Given the description of an element on the screen output the (x, y) to click on. 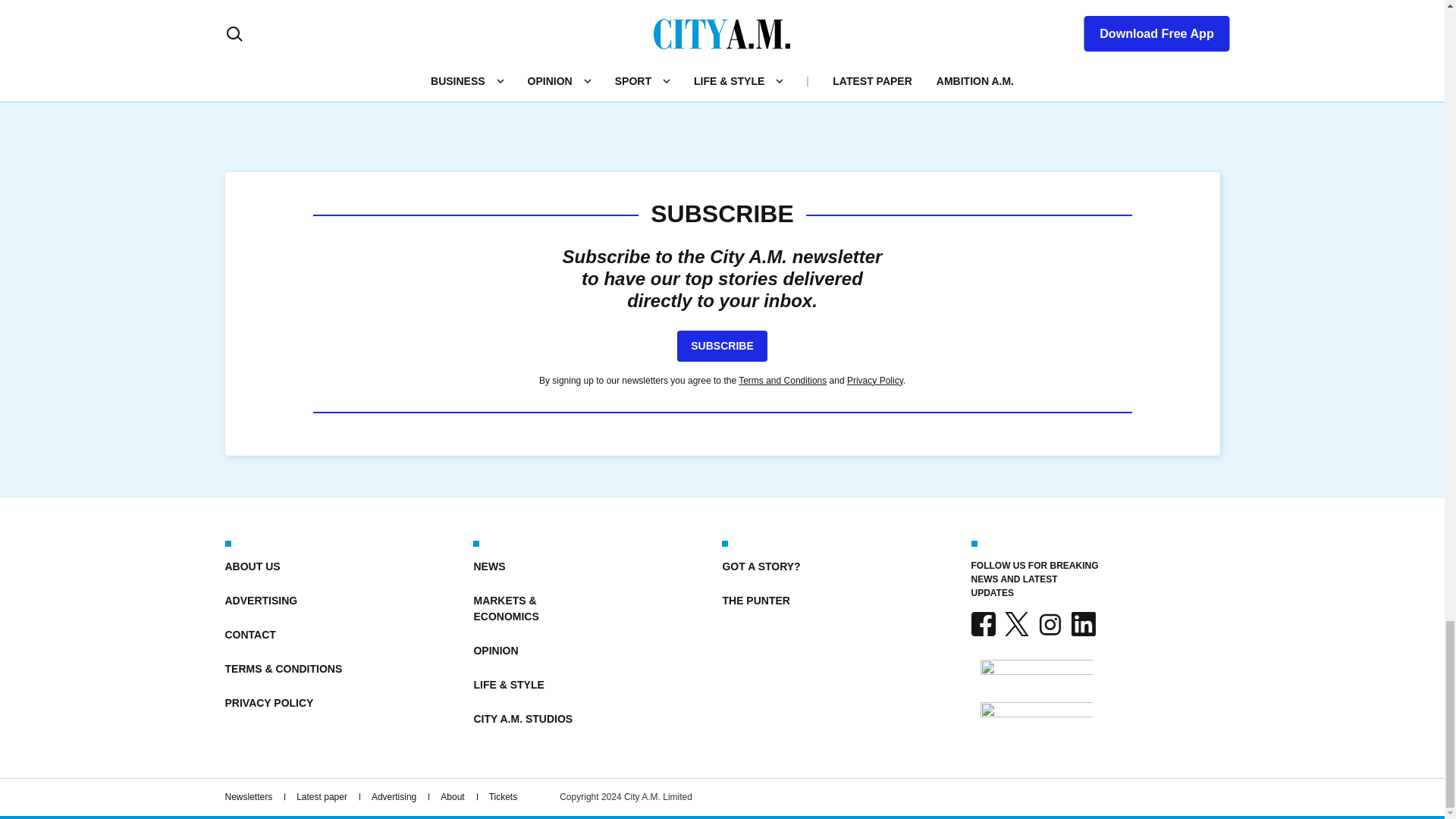
FACEBOOK (982, 623)
INSTAGRAM (1048, 623)
LINKEDIN (1082, 623)
X (1015, 623)
